Given the description of an element on the screen output the (x, y) to click on. 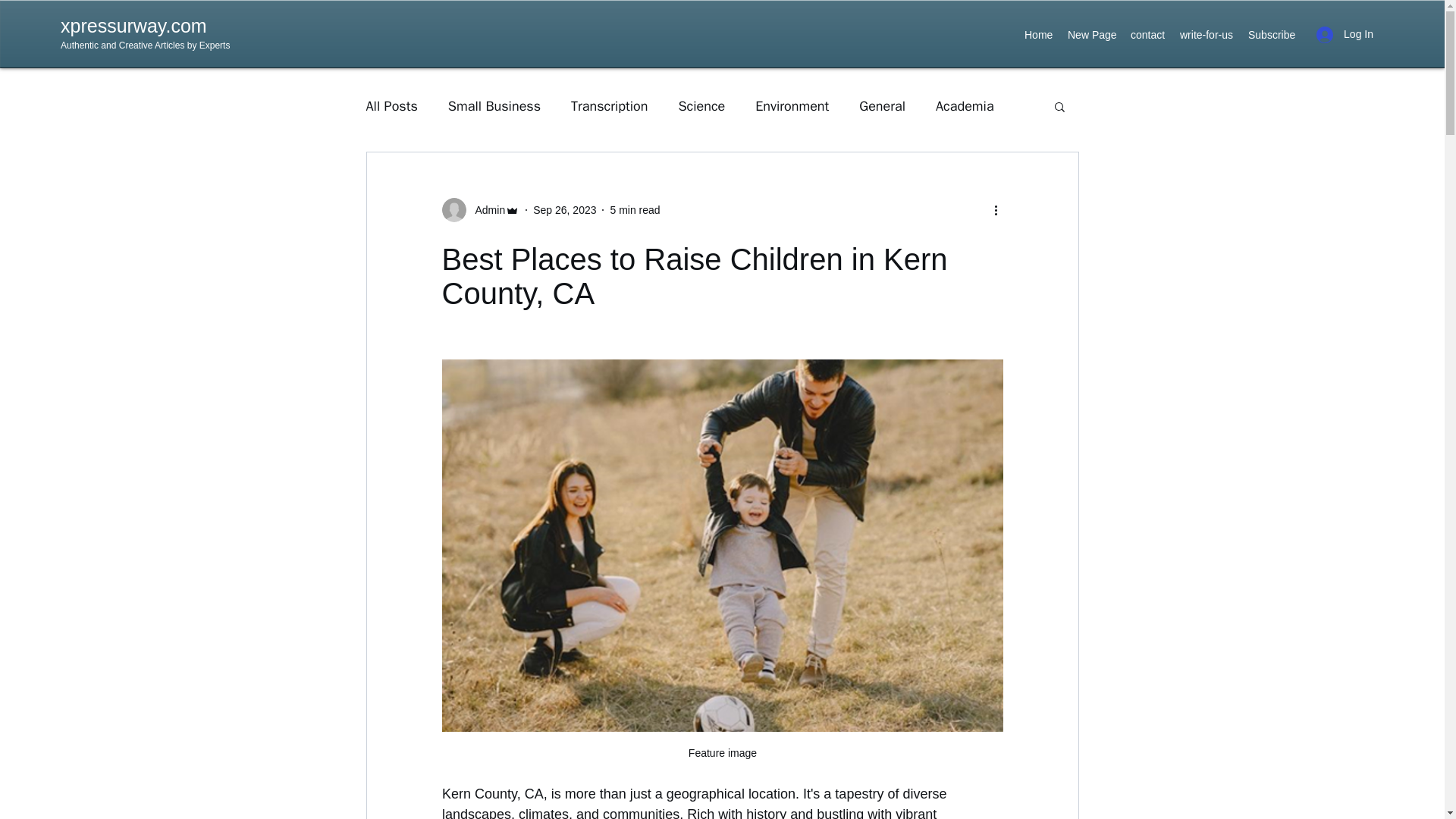
Environment (791, 106)
General (882, 106)
All Posts (390, 106)
write-for-us (1206, 34)
contact (1147, 34)
Home (1037, 34)
Admin (480, 209)
Academia (965, 106)
Admin (485, 209)
